Given the description of an element on the screen output the (x, y) to click on. 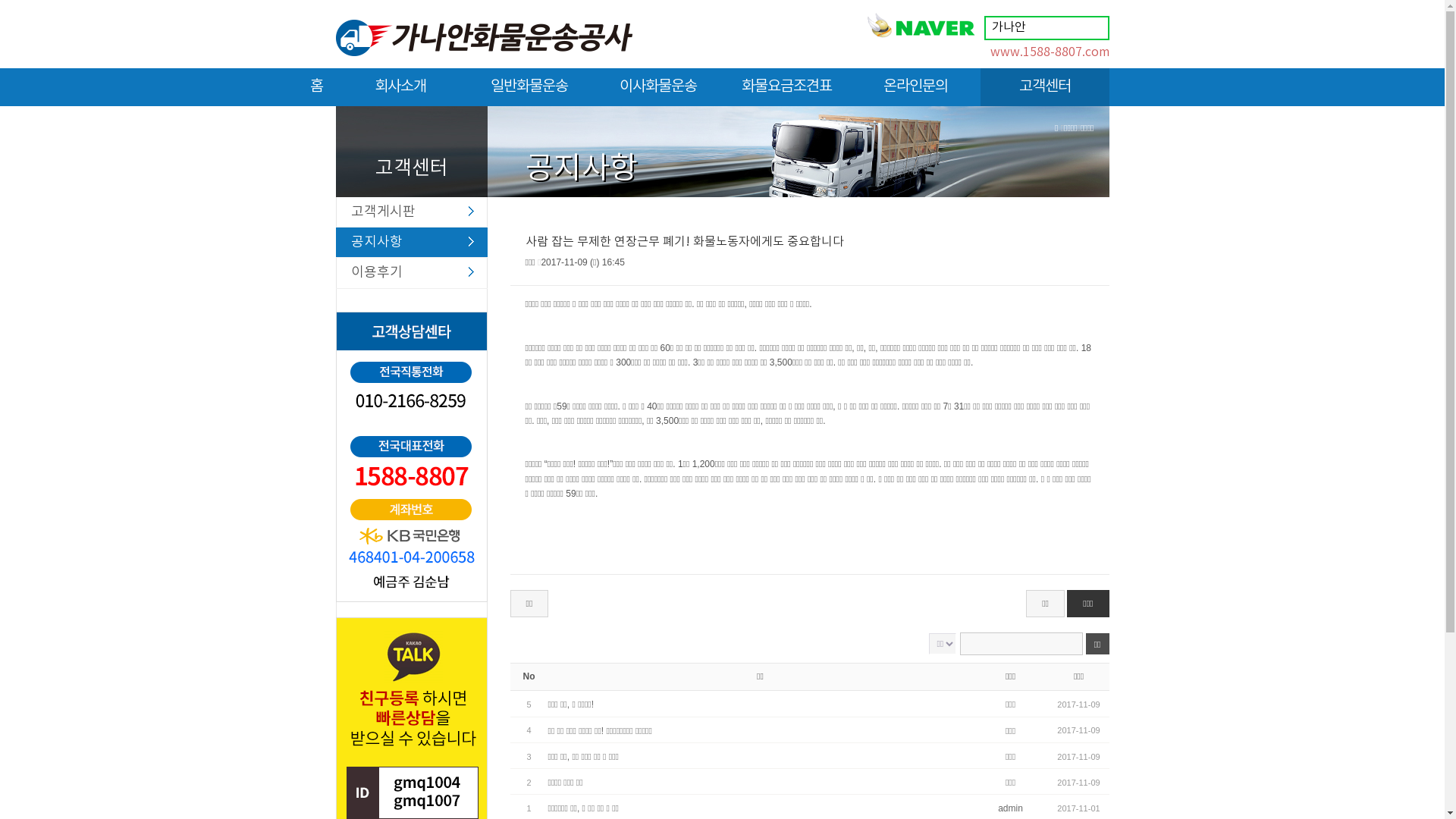
admin Element type: text (1009, 808)
